Given the description of an element on the screen output the (x, y) to click on. 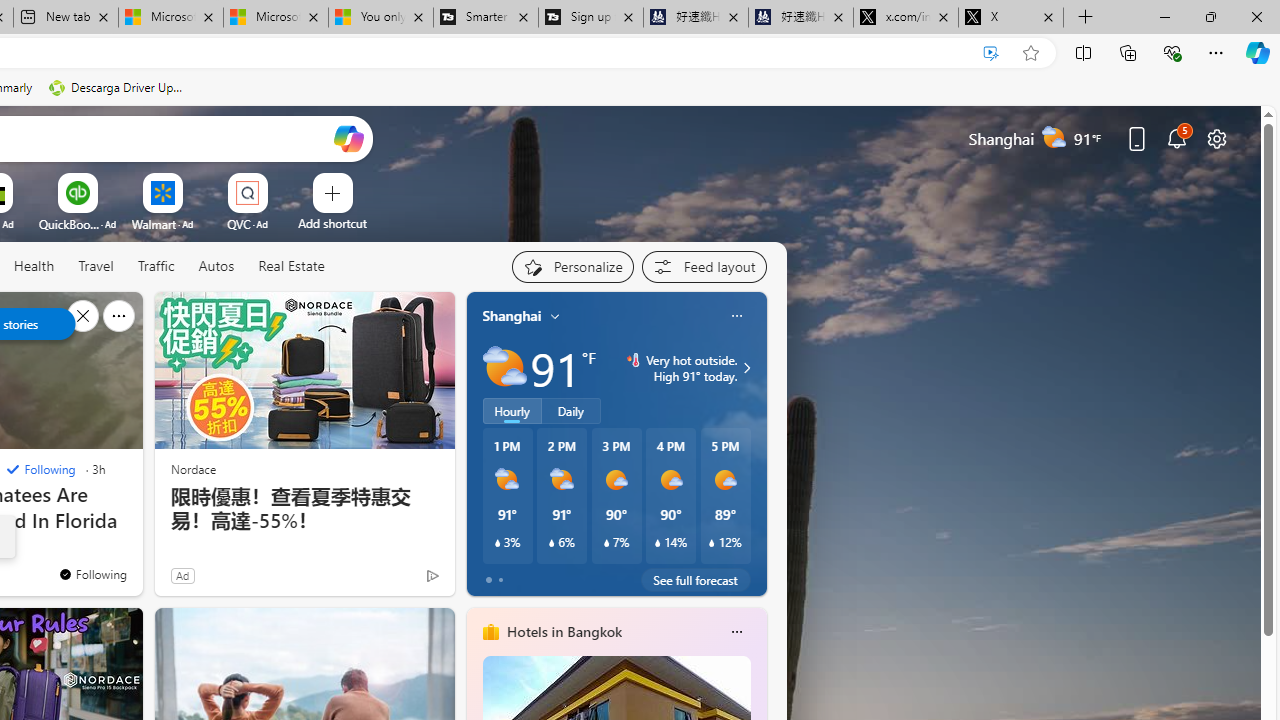
previous (476, 443)
See full forecast (695, 579)
Page settings (1216, 138)
Class: weather-arrow-glyph (746, 367)
tab-1 (500, 579)
Partly sunny (504, 368)
